Given the description of an element on the screen output the (x, y) to click on. 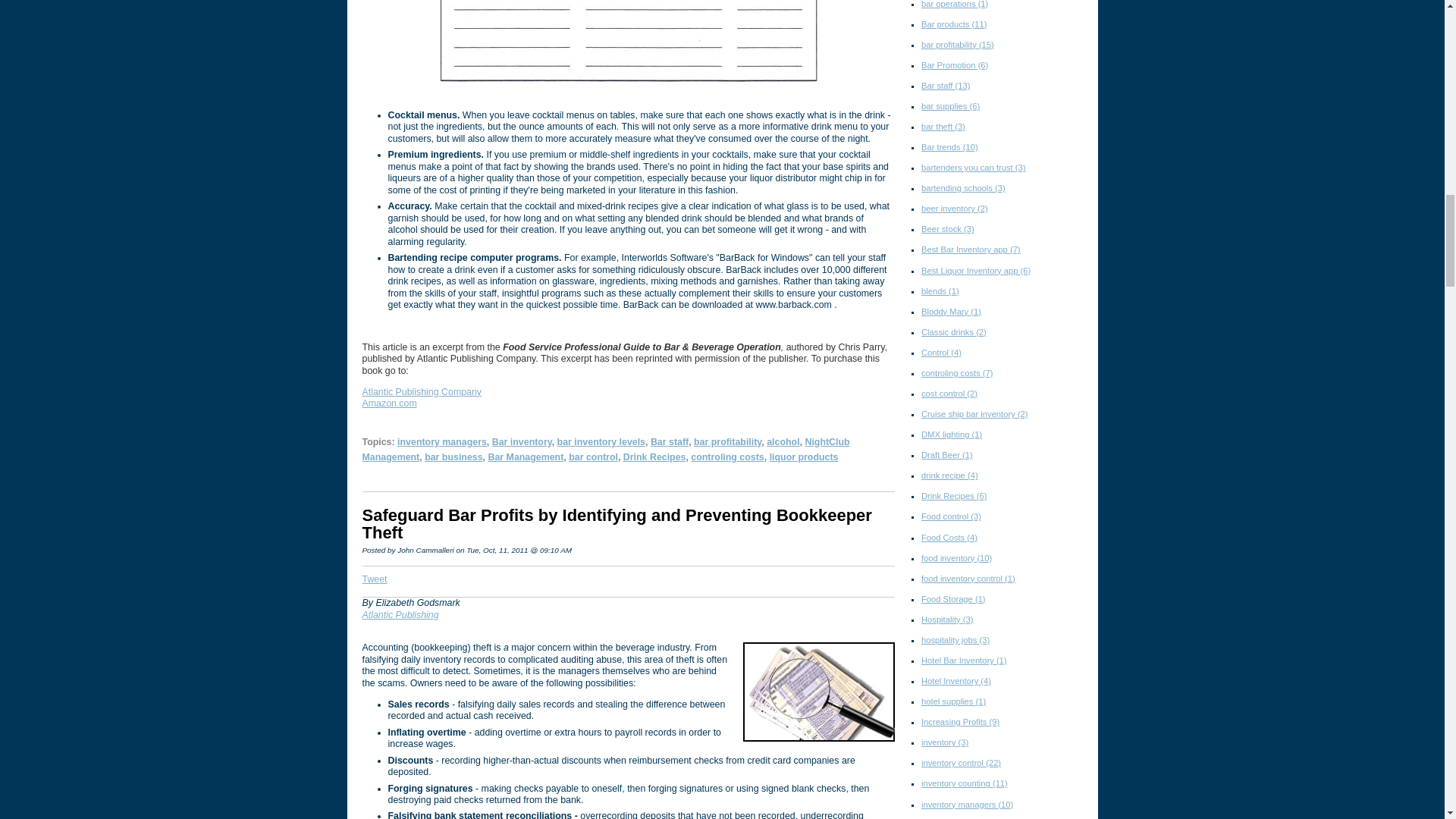
Atlantic Publishing (400, 614)
Amazon.com (389, 403)
Atlantic Publishing Company (421, 391)
